Given the description of an element on the screen output the (x, y) to click on. 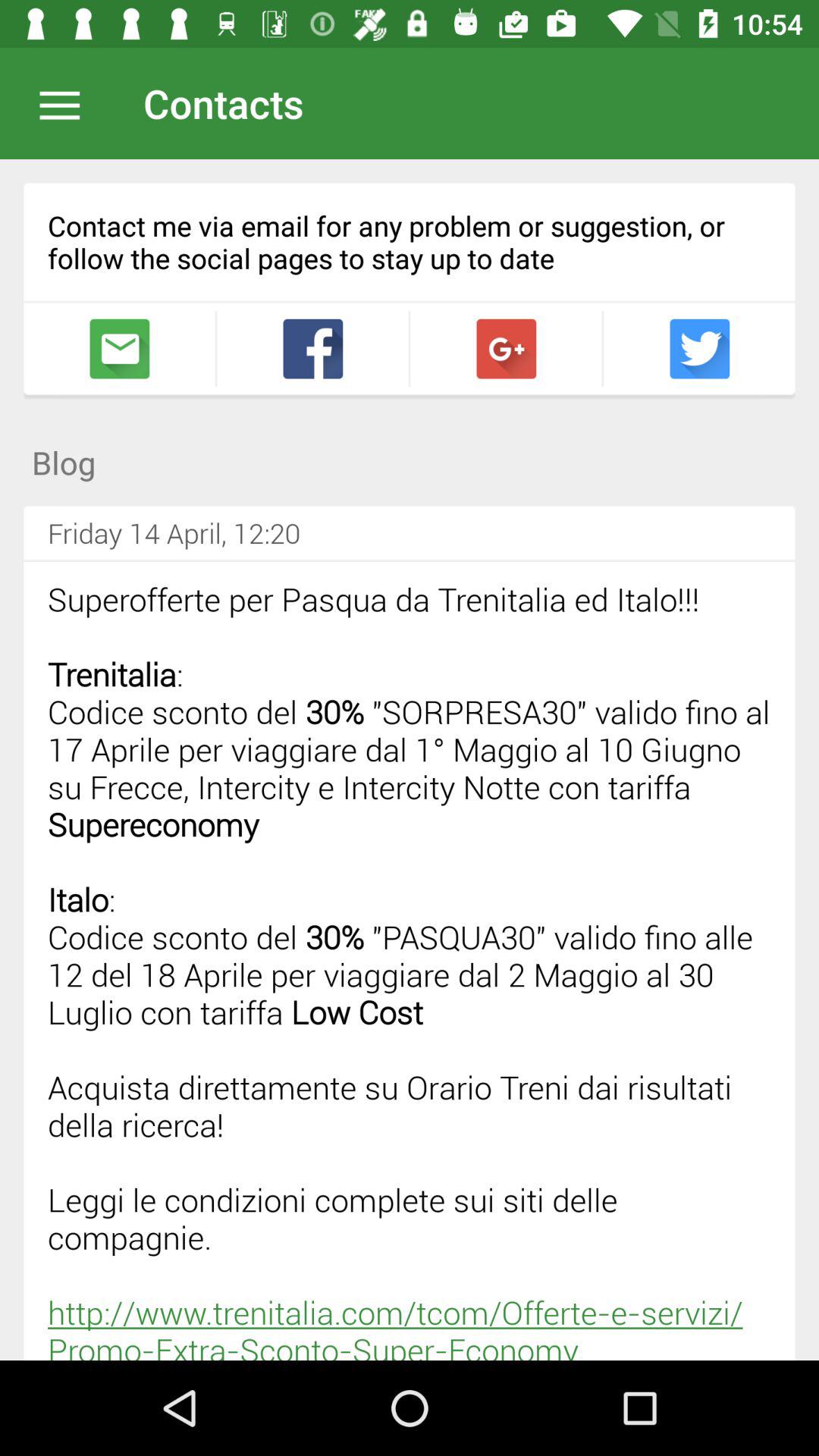
navigate to facebook (312, 348)
